Given the description of an element on the screen output the (x, y) to click on. 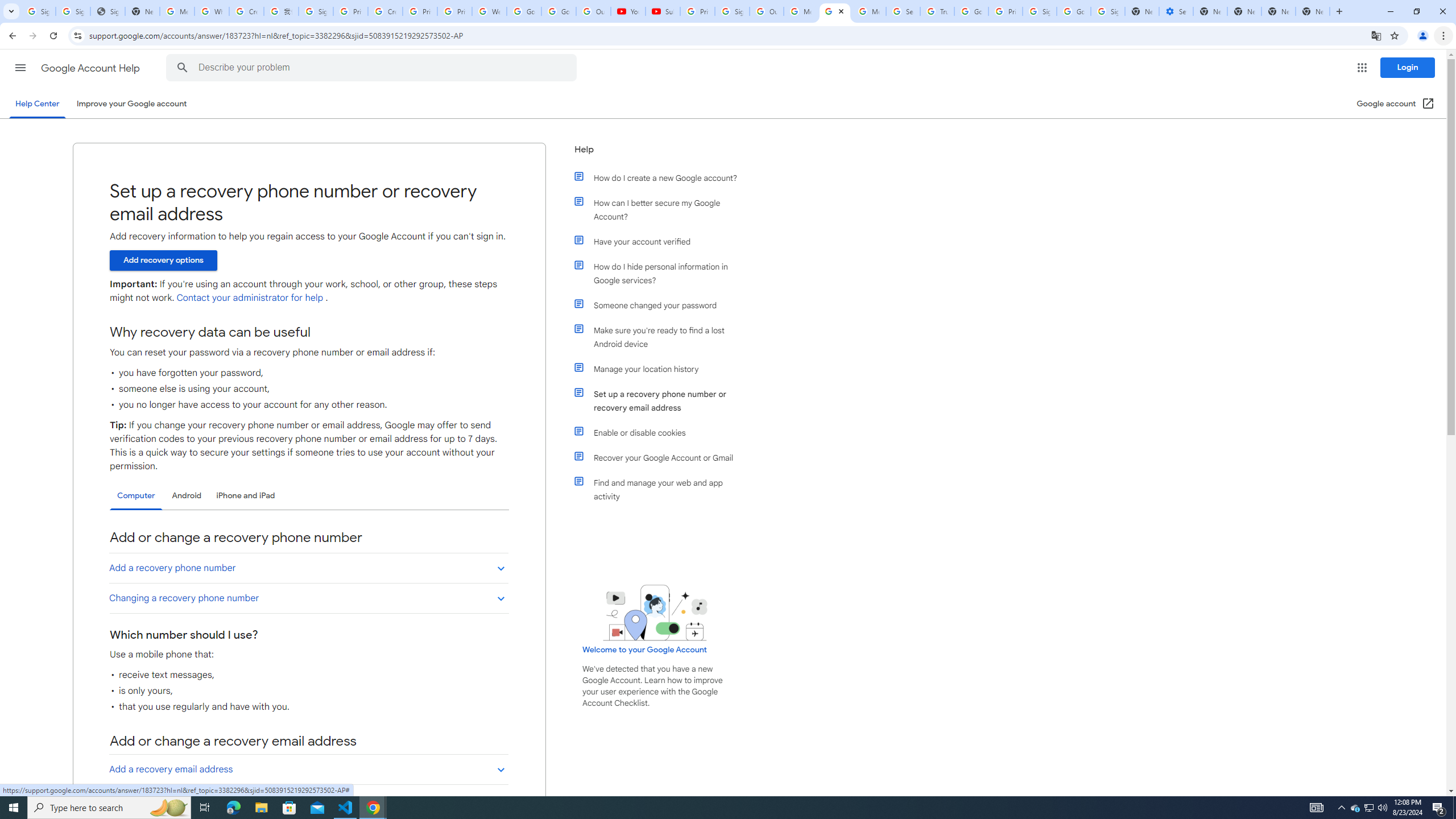
How do I hide personal information in Google services? (661, 273)
How can I better secure my Google Account? (661, 209)
Google Account (557, 11)
Find and manage your web and app activity (661, 489)
Sign In - USA TODAY (107, 11)
Improve your Google account (131, 103)
Have your account verified (661, 241)
